Given the description of an element on the screen output the (x, y) to click on. 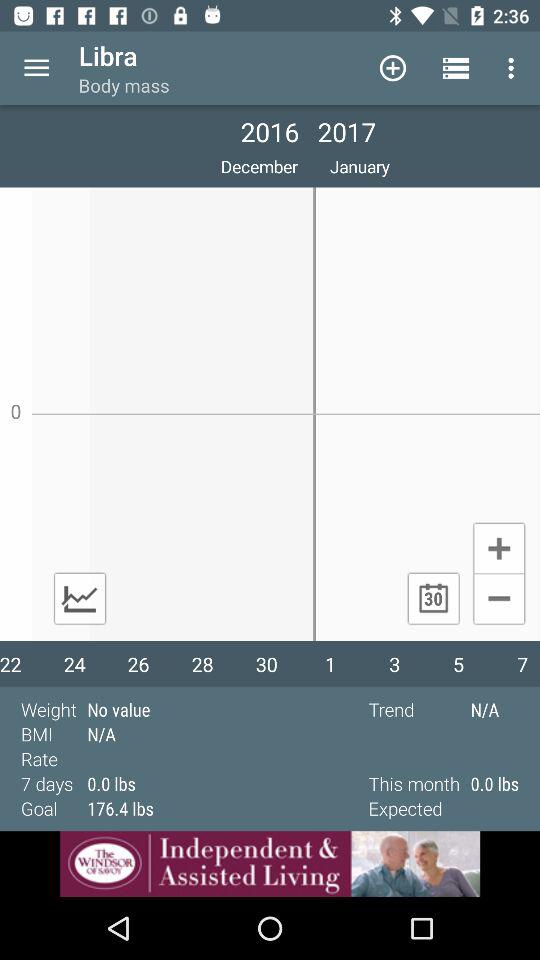
go to advertisement site (270, 864)
